Given the description of an element on the screen output the (x, y) to click on. 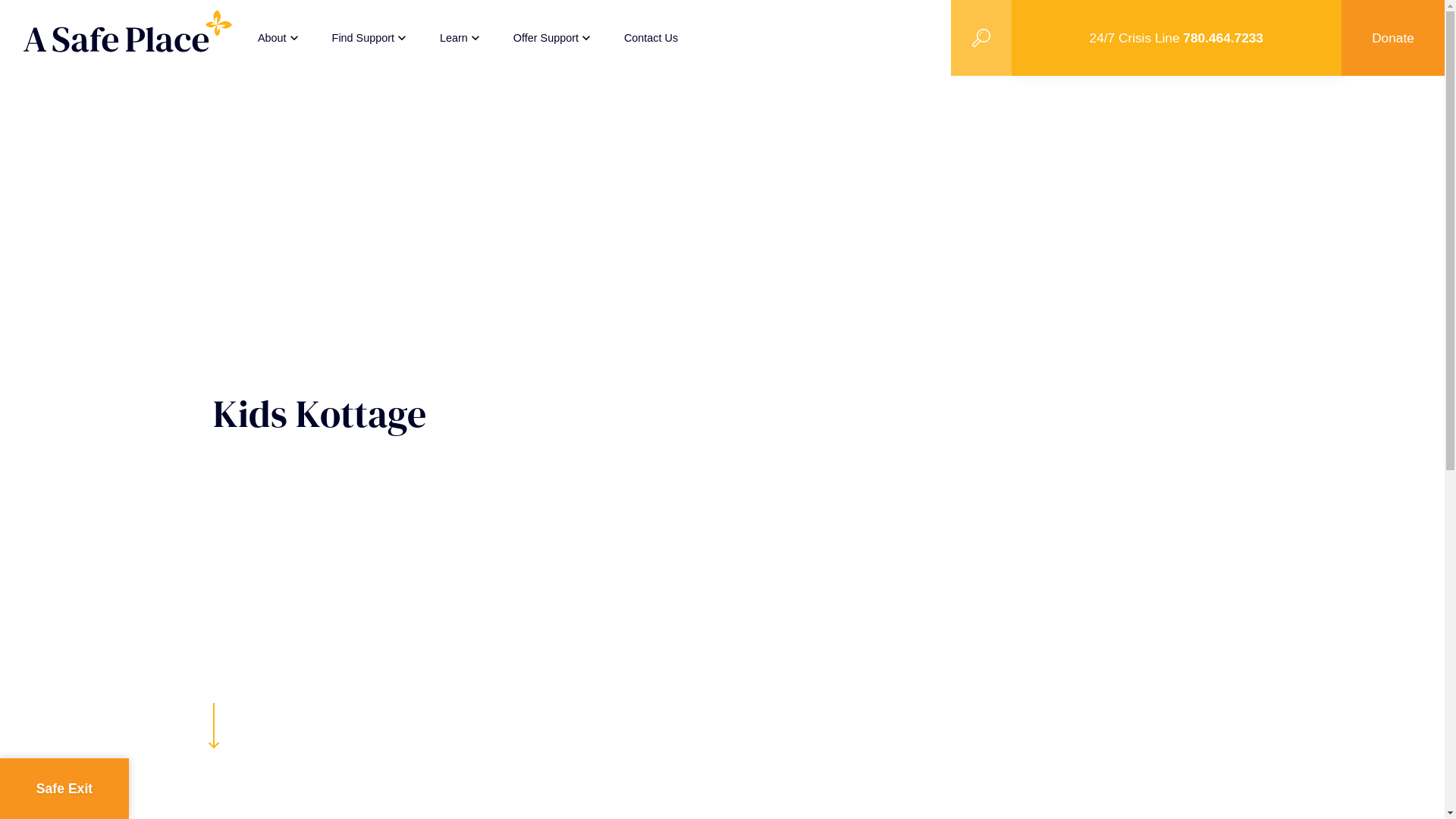
Contact Us Element type: text (650, 37)
About Element type: text (279, 37)
Donate Element type: text (1392, 37)
Offer Support Element type: text (553, 37)
Learn Element type: text (461, 37)
Find Support Element type: text (370, 37)
24/7 Crisis Line 780.464.7233 Element type: text (1176, 37)
